Given the description of an element on the screen output the (x, y) to click on. 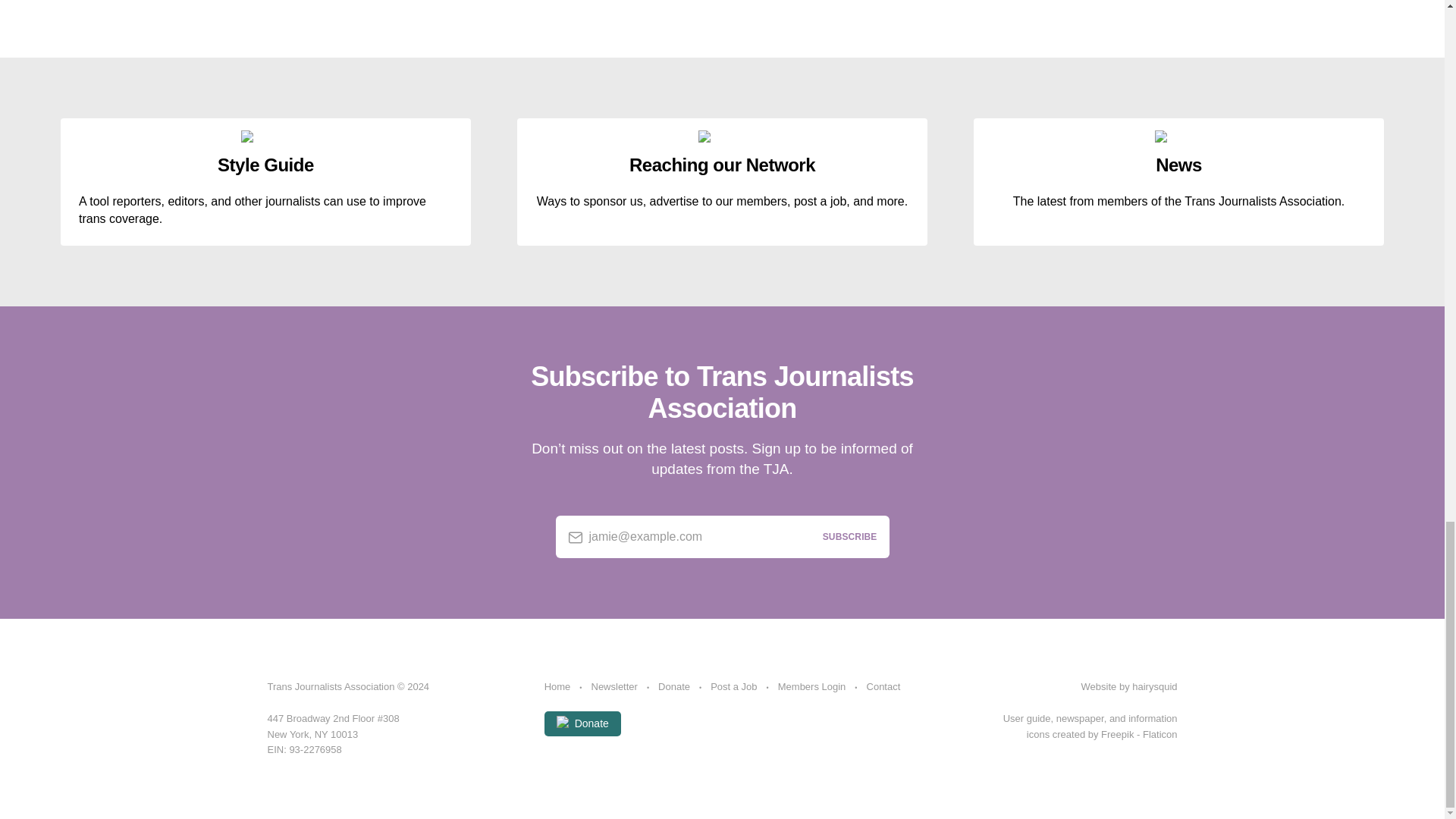
newspaper icons (1080, 717)
Website by hairysquid (1129, 686)
Contact (883, 687)
Members Login (811, 687)
Newsletter (614, 687)
Donate (674, 687)
Post a Job (733, 687)
Home (557, 687)
Donate (582, 723)
user guide icons (1027, 717)
information icons (1152, 717)
newspaper (1080, 717)
User guide (1027, 717)
